Given the description of an element on the screen output the (x, y) to click on. 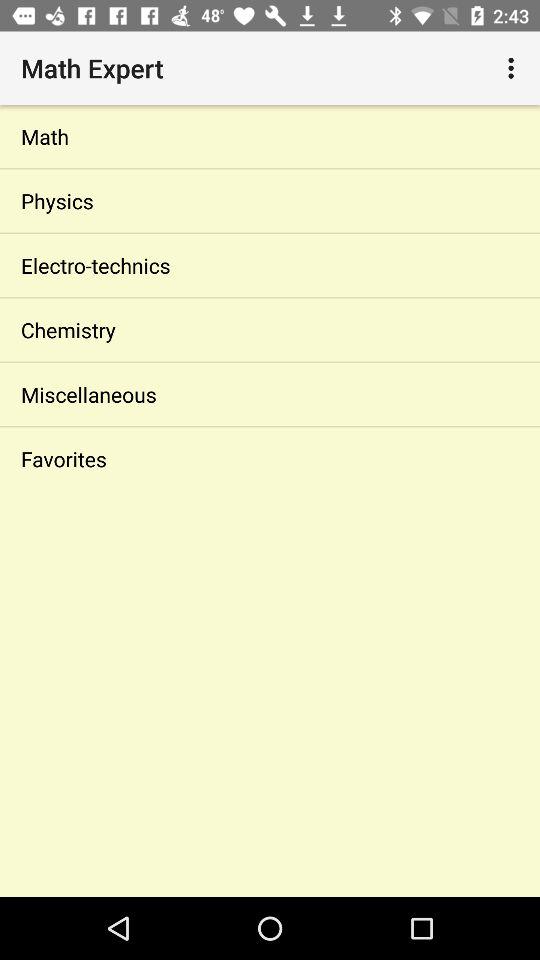
click icon above chemistry item (270, 265)
